Given the description of an element on the screen output the (x, y) to click on. 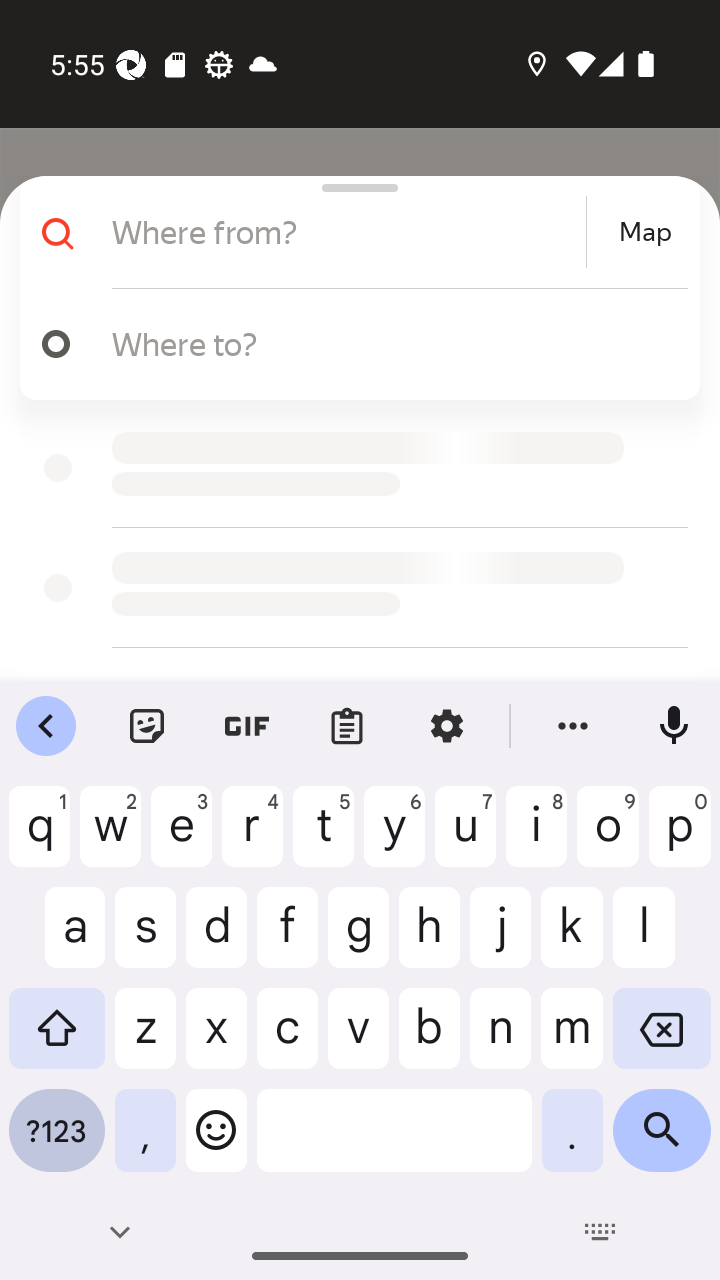
Where from? Map Map (352, 232)
Map (645, 232)
Where from? (346, 232)
Where to? (352, 343)
Where to? (390, 343)
